Given the description of an element on the screen output the (x, y) to click on. 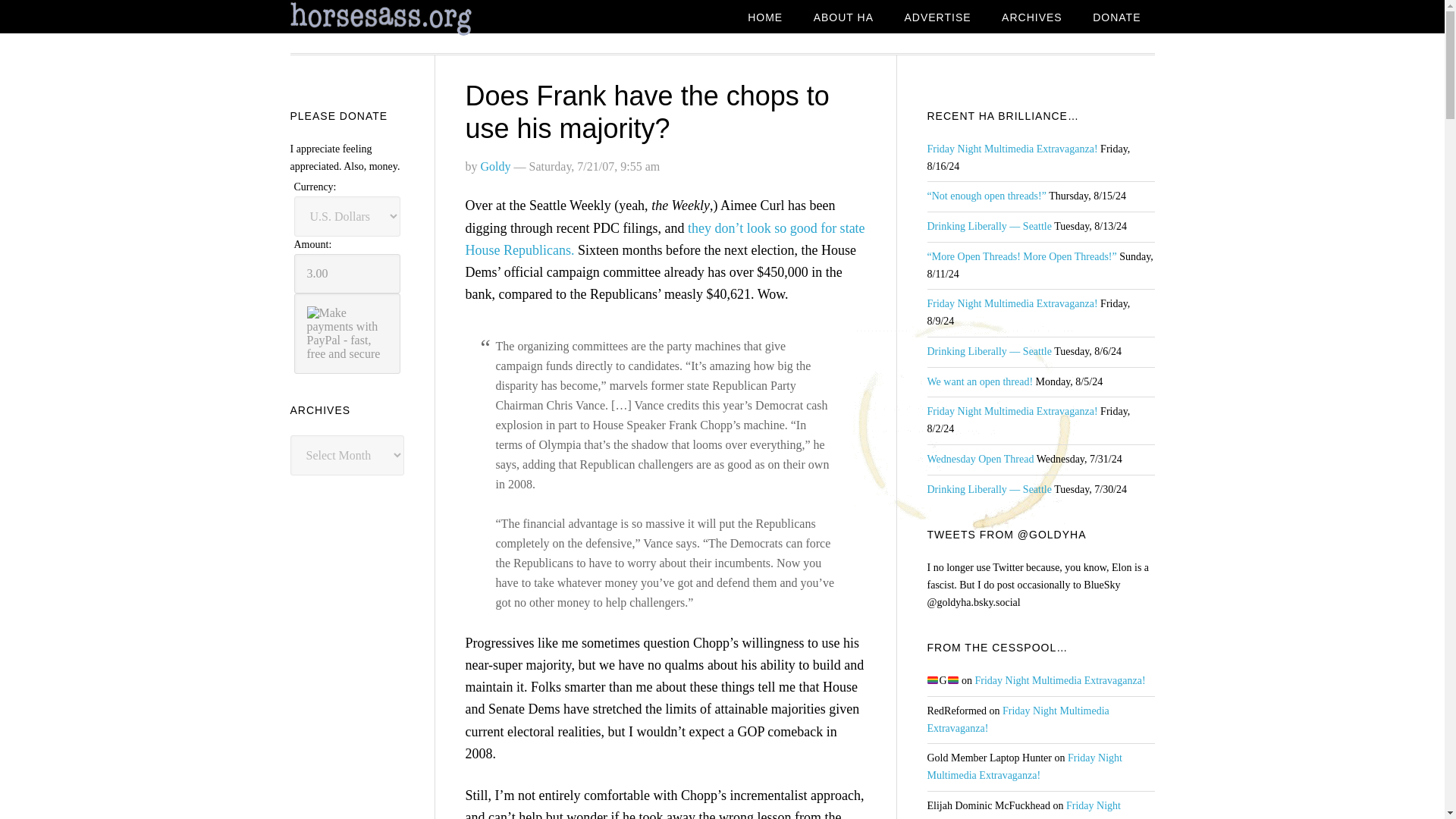
ADVERTISE (936, 17)
3.00 (347, 273)
HORSESASS.ORG (410, 19)
Goldy (495, 165)
The amount you wish to donate (347, 273)
HOME (764, 17)
DONATE (1116, 17)
ABOUT HA (842, 17)
ARCHIVES (1031, 17)
Friday Night Multimedia Extravaganza! (1011, 148)
